Given the description of an element on the screen output the (x, y) to click on. 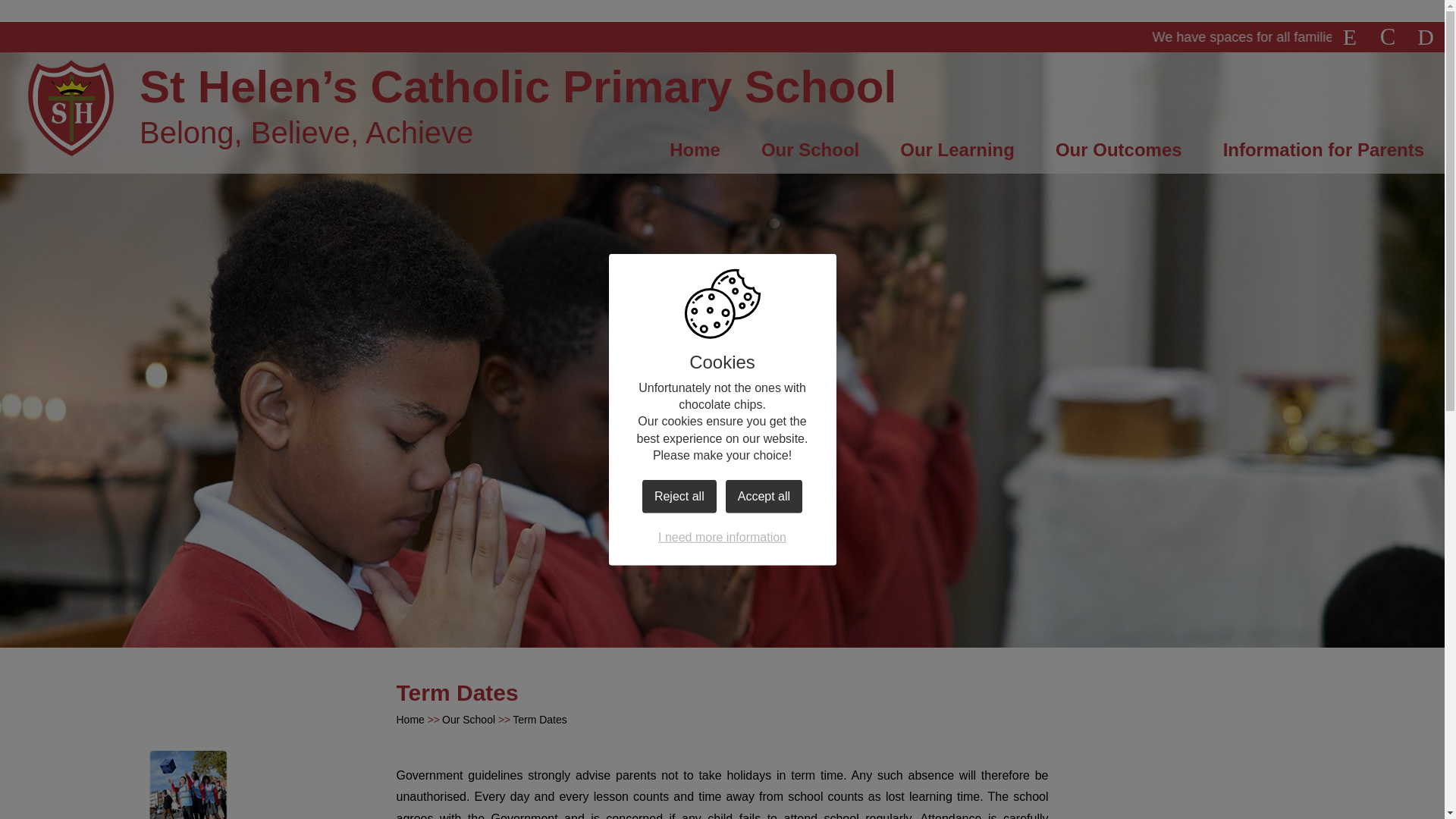
Home (694, 155)
Our School (810, 155)
Home Page (71, 107)
Our Learning (956, 155)
